Given the description of an element on the screen output the (x, y) to click on. 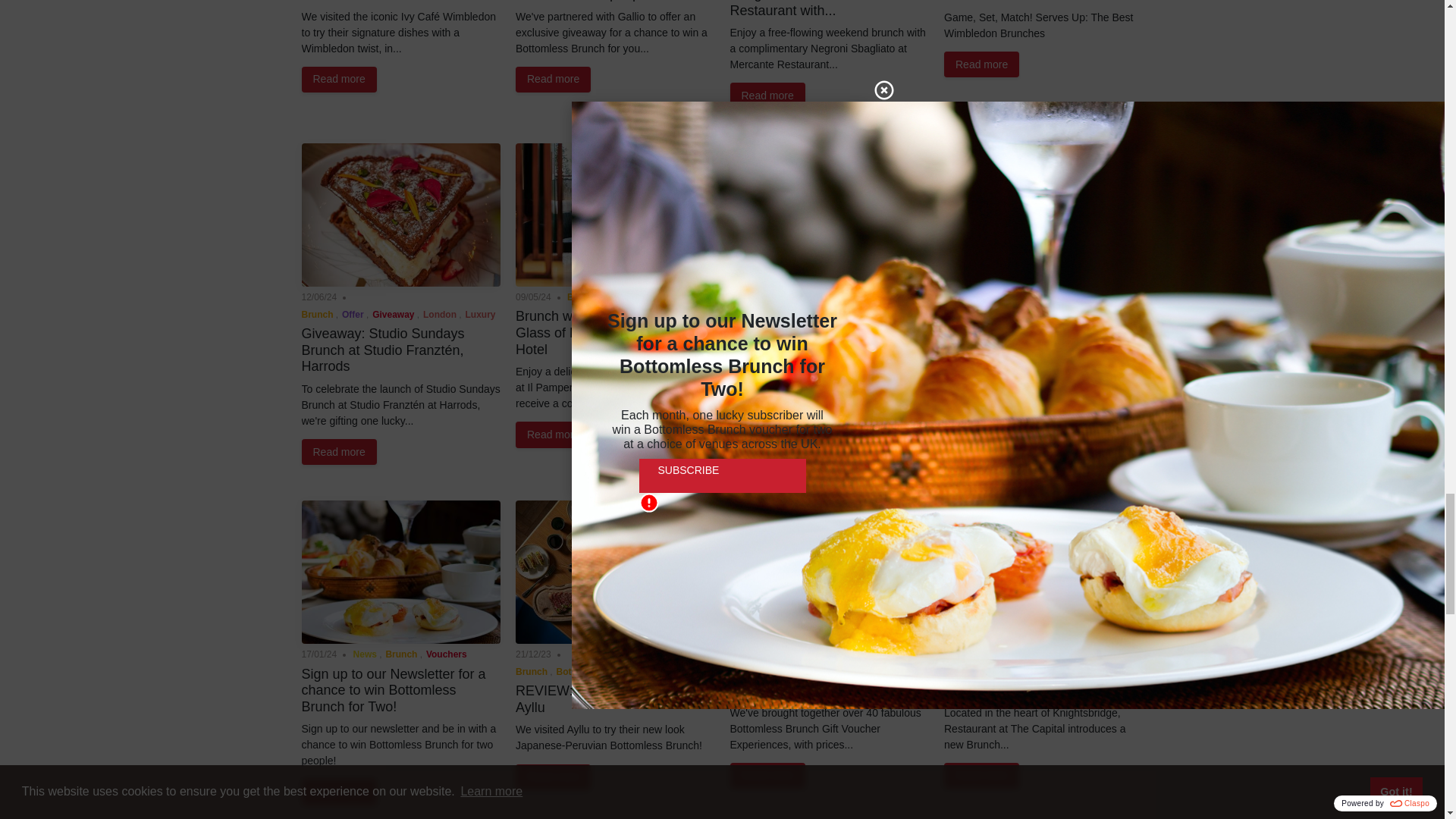
Review: The Ivy Cafe Wimbledon (365, 0)
Read more (767, 95)
Read more (339, 79)
Brunch in Wimbledon (1008, 1)
Read more (553, 434)
Read more (339, 451)
Read more (981, 63)
Read more (553, 79)
